Given the description of an element on the screen output the (x, y) to click on. 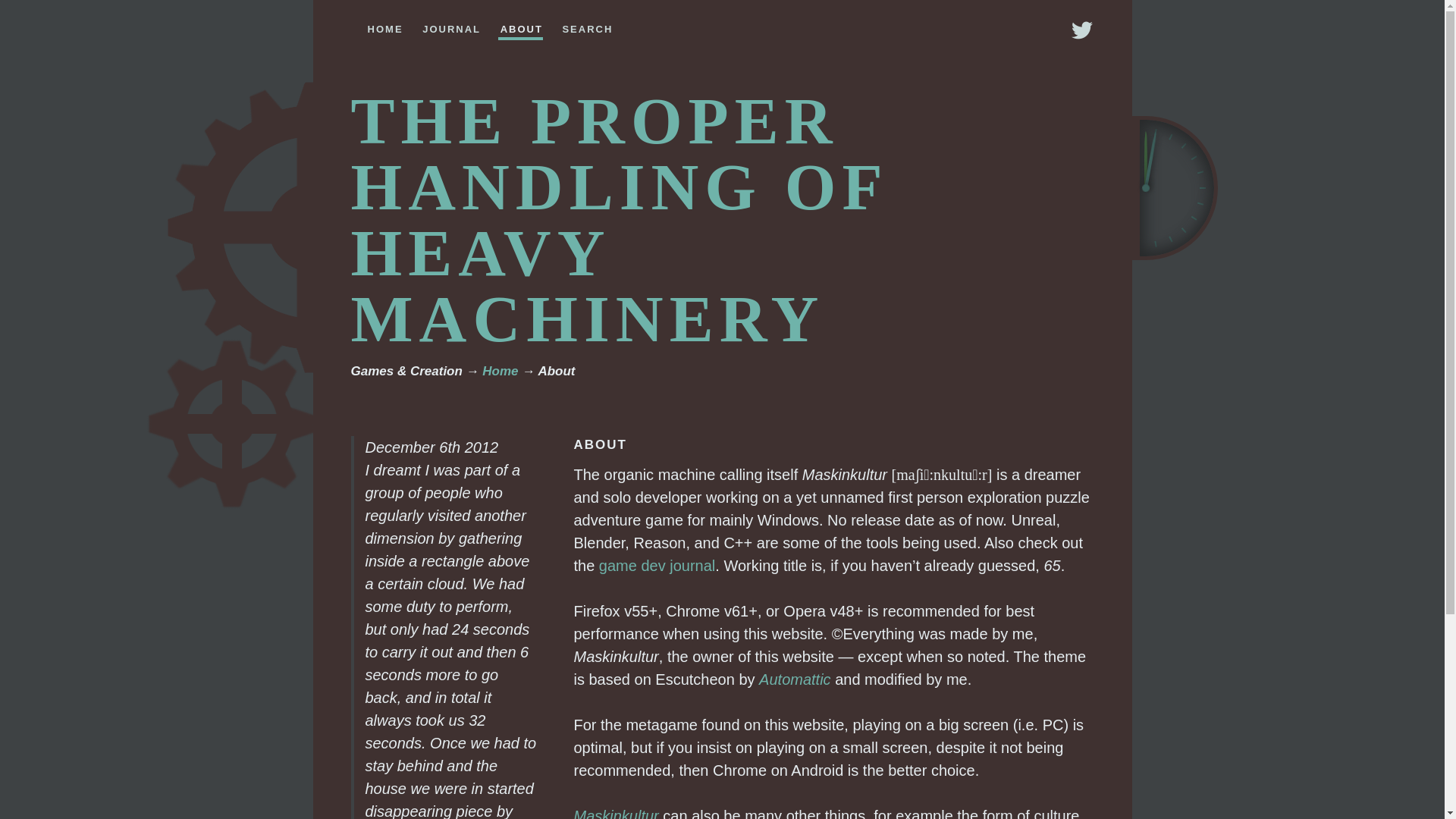
v48.0.2685.32 (846, 610)
Automattic (793, 678)
HOME (384, 25)
v61.0.3163.100 (740, 610)
game dev journal (656, 565)
Maskinkultur (615, 813)
v55.0.3 (641, 610)
Twitter (1080, 30)
SEARCH (586, 25)
JOURNAL (450, 25)
Home (499, 370)
ABOUT (520, 27)
